Given the description of an element on the screen output the (x, y) to click on. 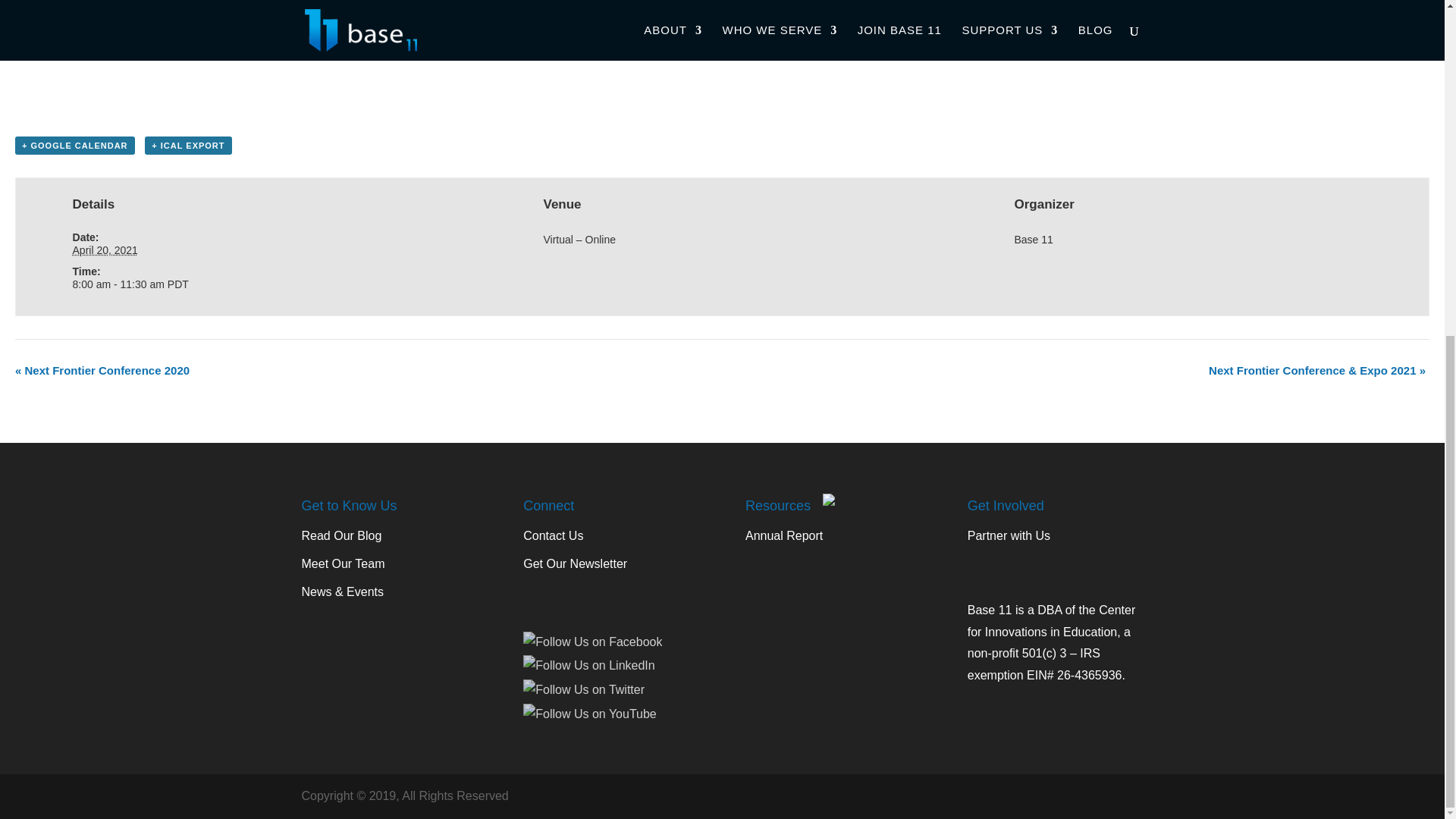
Follow Us on Facebook (592, 642)
Meet Our Team (343, 563)
Follow Us on Twitter (583, 690)
Follow Us on LinkedIn (587, 666)
Download .ics file (187, 145)
2021-04-20 (251, 284)
Follow Us on YouTube (589, 714)
Add to Google Calendar (74, 145)
2021-04-20 (105, 250)
Read Our Blog (341, 535)
